Given the description of an element on the screen output the (x, y) to click on. 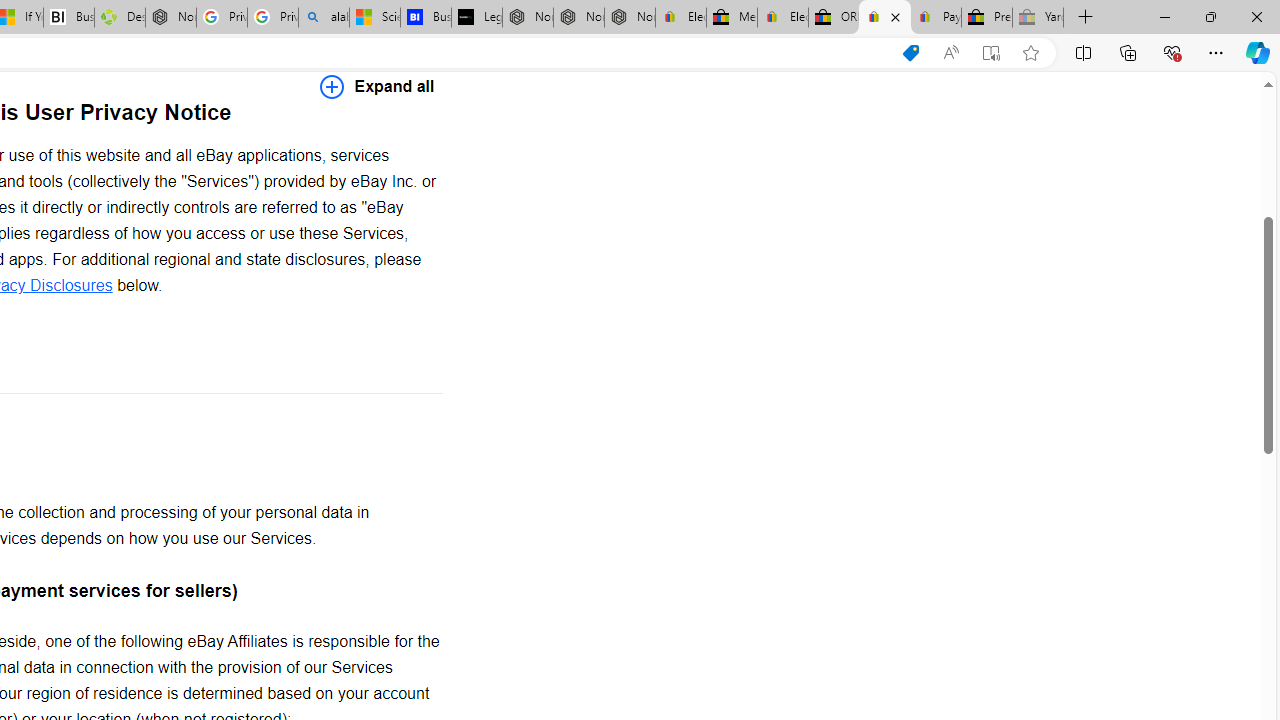
Press Room - eBay Inc. (987, 17)
This site has coupons! Shopping in Microsoft Edge (910, 53)
Nordace - My Account (170, 17)
Yard, Garden & Outdoor Living - Sleeping (1037, 17)
Electronics, Cars, Fashion, Collectibles & More | eBay (782, 17)
Payments Terms of Use | eBay.com (936, 17)
alabama high school quarterback dies - Search (324, 17)
Expand all (377, 86)
User Privacy Notice | eBay (885, 17)
